Given the description of an element on the screen output the (x, y) to click on. 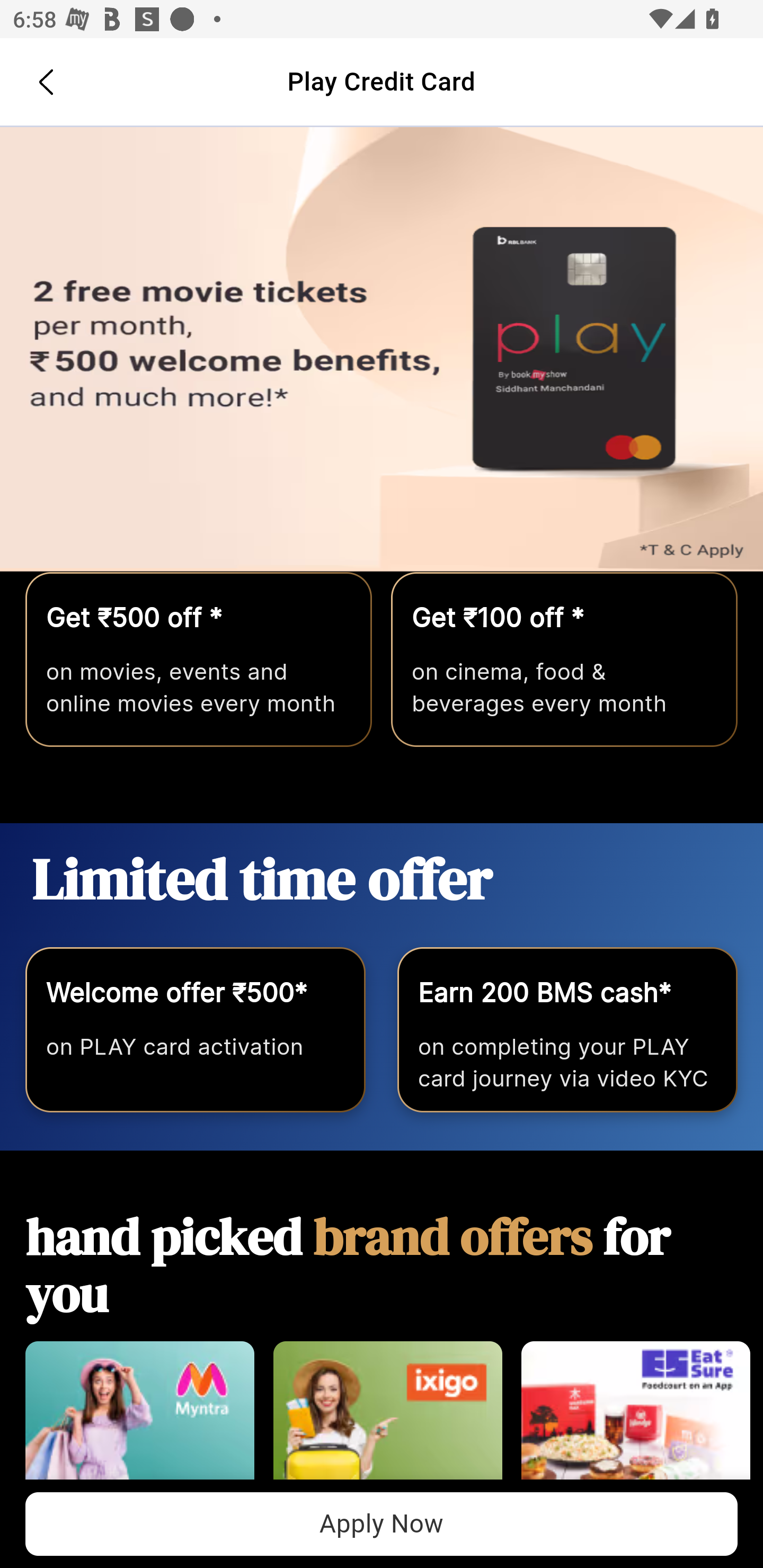
Apply Now (381, 349)
MYNTRA (139, 1419)
Ixigo (387, 1419)
EatSure (635, 1419)
Apply Now (381, 1523)
